Given the description of an element on the screen output the (x, y) to click on. 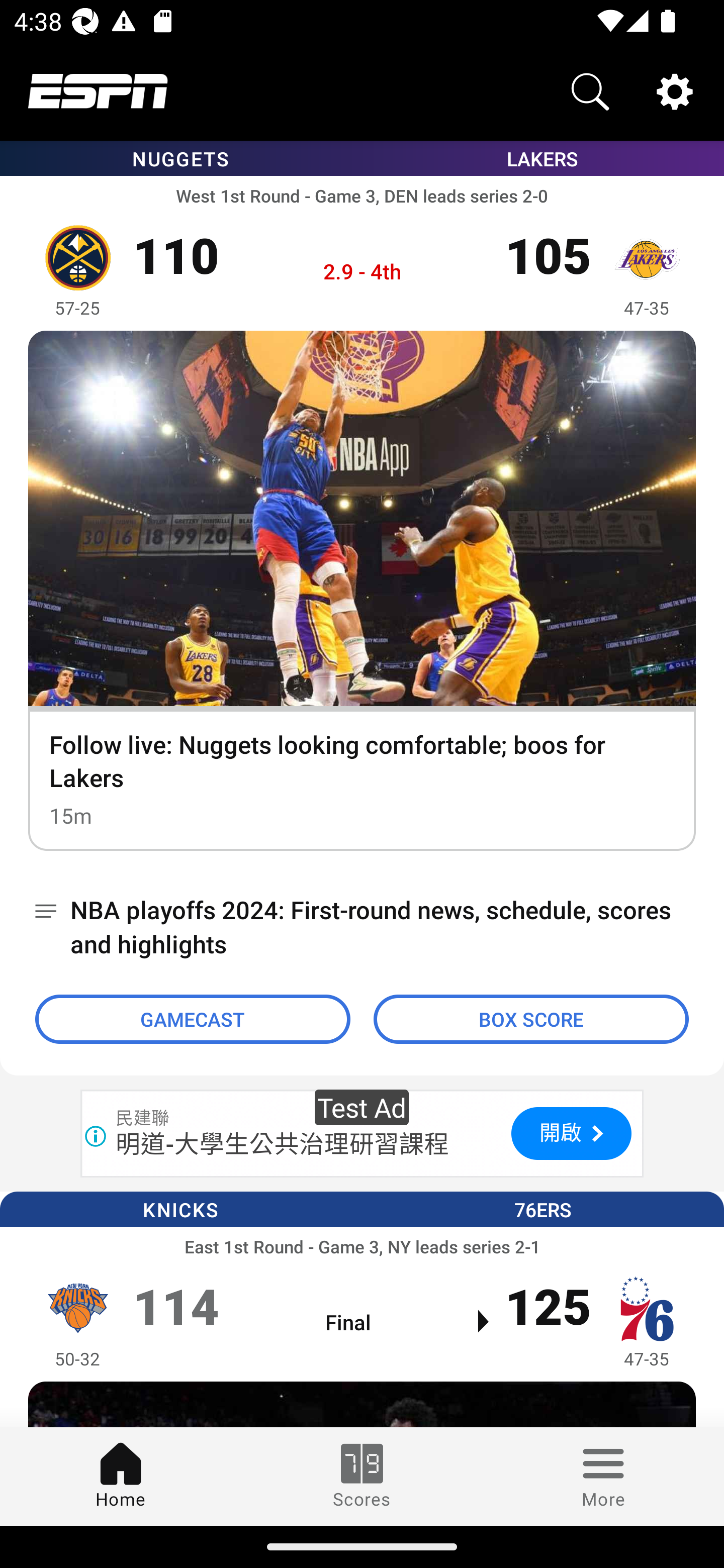
Search (590, 90)
Settings (674, 90)
GAMECAST (192, 1019)
BOX SCORE (530, 1019)
Scores (361, 1475)
More (603, 1475)
